Given the description of an element on the screen output the (x, y) to click on. 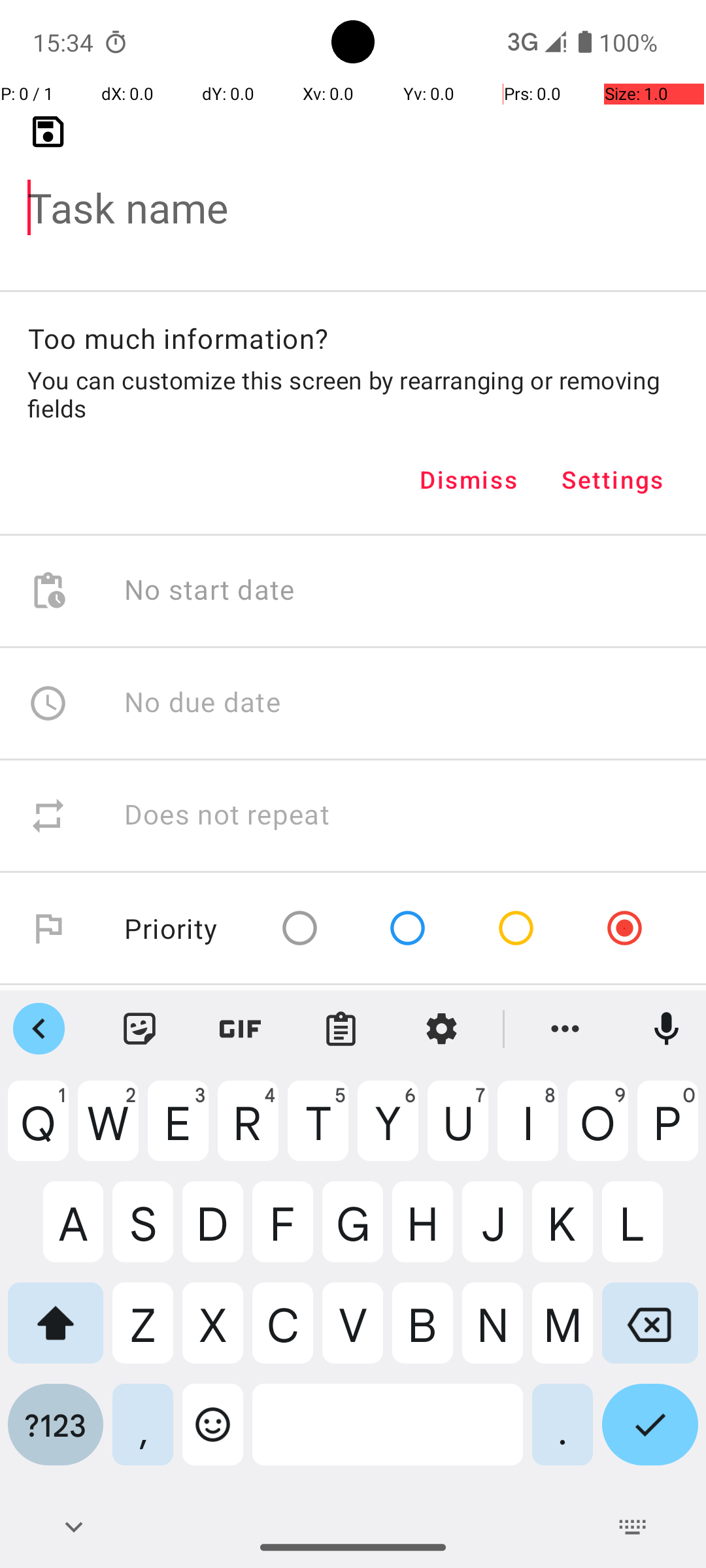
Task name Element type: android.widget.EditText (353, 186)
Too much information? Element type: android.widget.TextView (178, 337)
You can customize this screen by rearranging or removing fields Element type: android.widget.TextView (352, 393)
Dismiss Element type: android.widget.TextView (468, 479)
No due date Element type: android.widget.TextView (202, 702)
No start date Element type: android.widget.TextView (209, 590)
Does not repeat Element type: android.widget.TextView (226, 815)
